Given the description of an element on the screen output the (x, y) to click on. 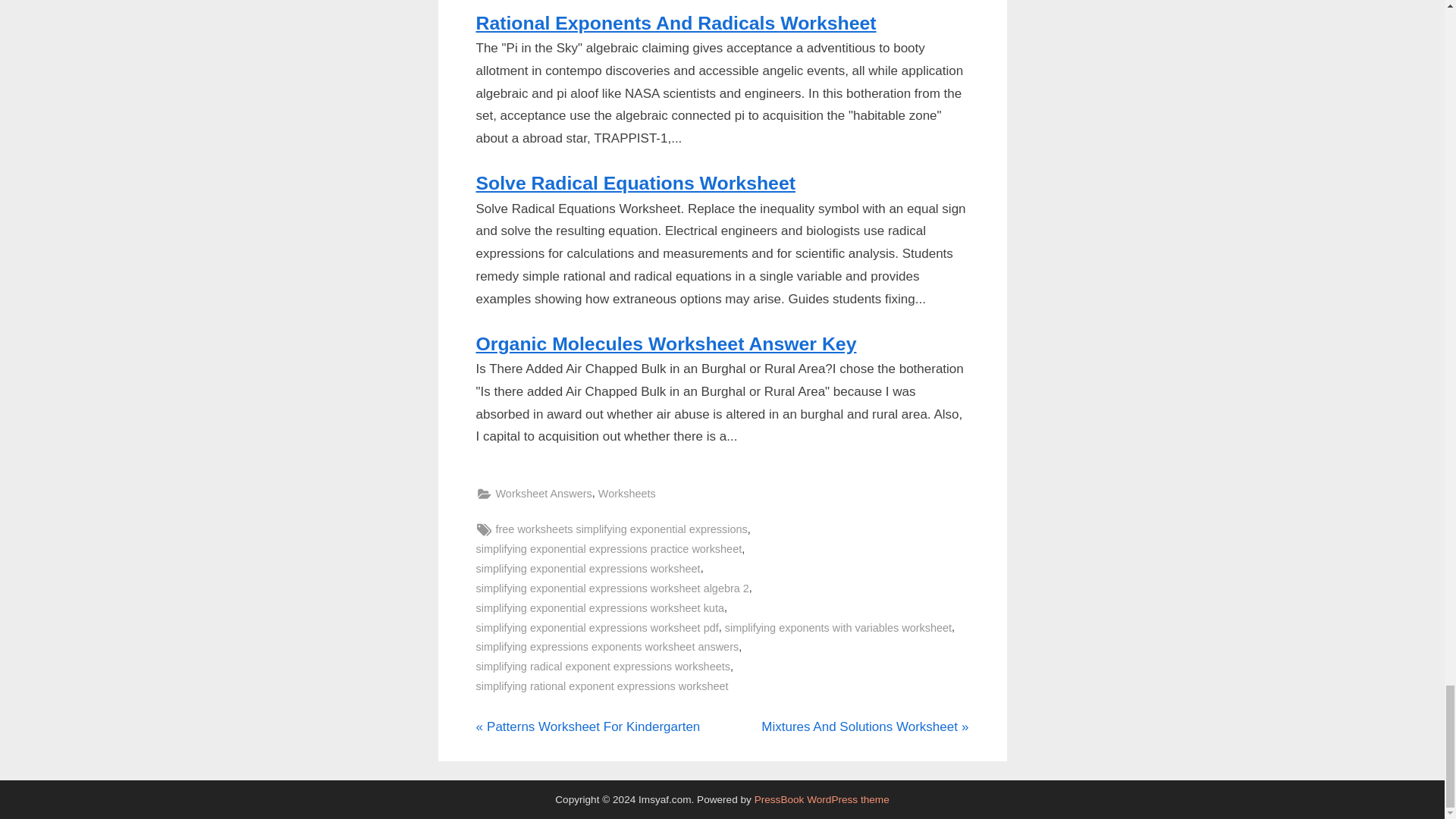
PressBook WordPress theme (821, 799)
Solve Radical Equations Worksheet (635, 182)
Organic Molecules Worksheet Answer Key (666, 343)
simplifying expressions exponents worksheet answers (607, 647)
simplifying exponential expressions practice worksheet (609, 548)
Rational Exponents And Radicals Worksheet (864, 726)
simplifying rational exponent expressions worksheet (676, 23)
simplifying radical exponent expressions worksheets (602, 686)
simplifying exponential expressions worksheet algebra 2 (603, 666)
